Given the description of an element on the screen output the (x, y) to click on. 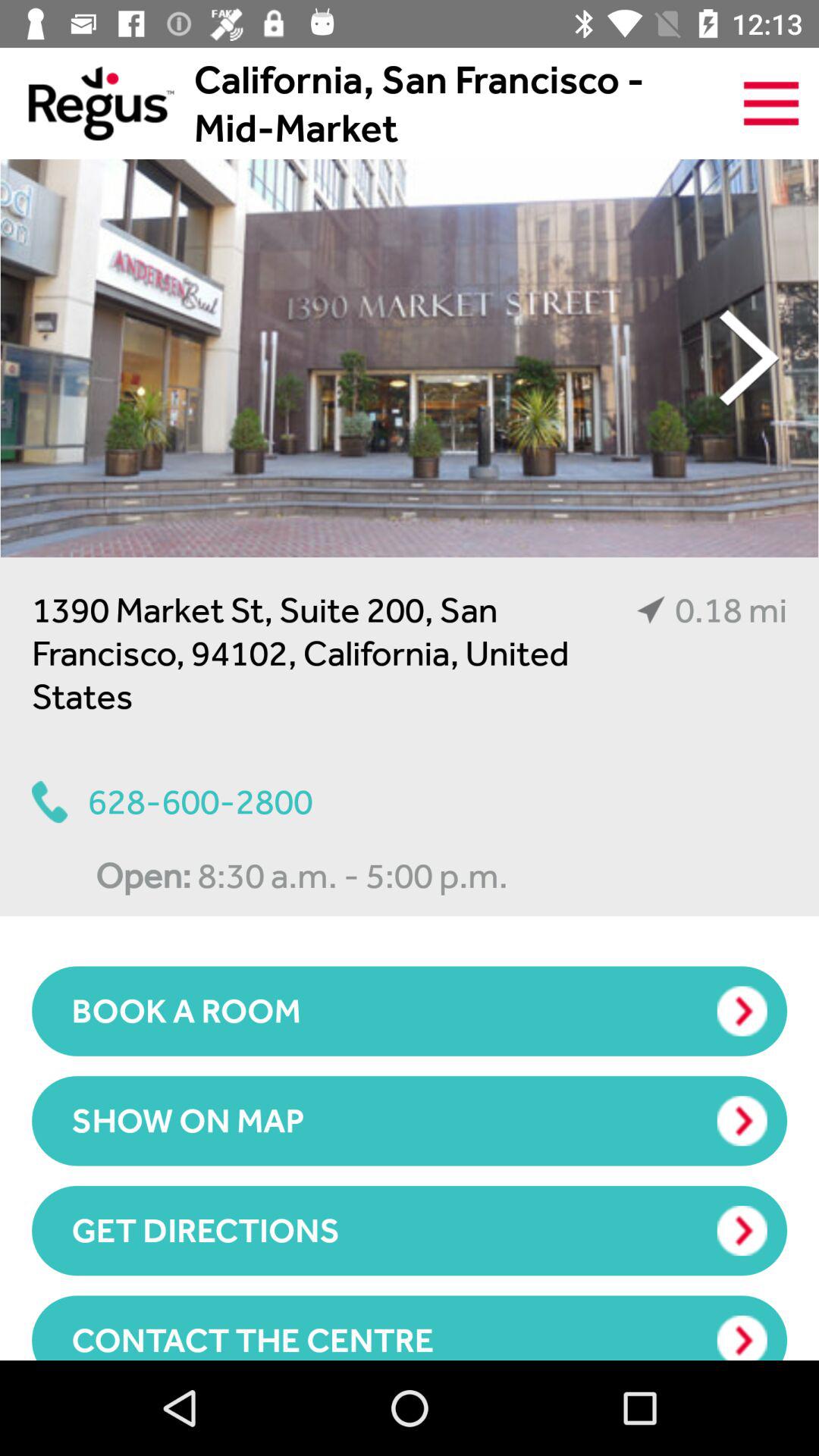
open the item above show on map item (409, 1011)
